Given the description of an element on the screen output the (x, y) to click on. 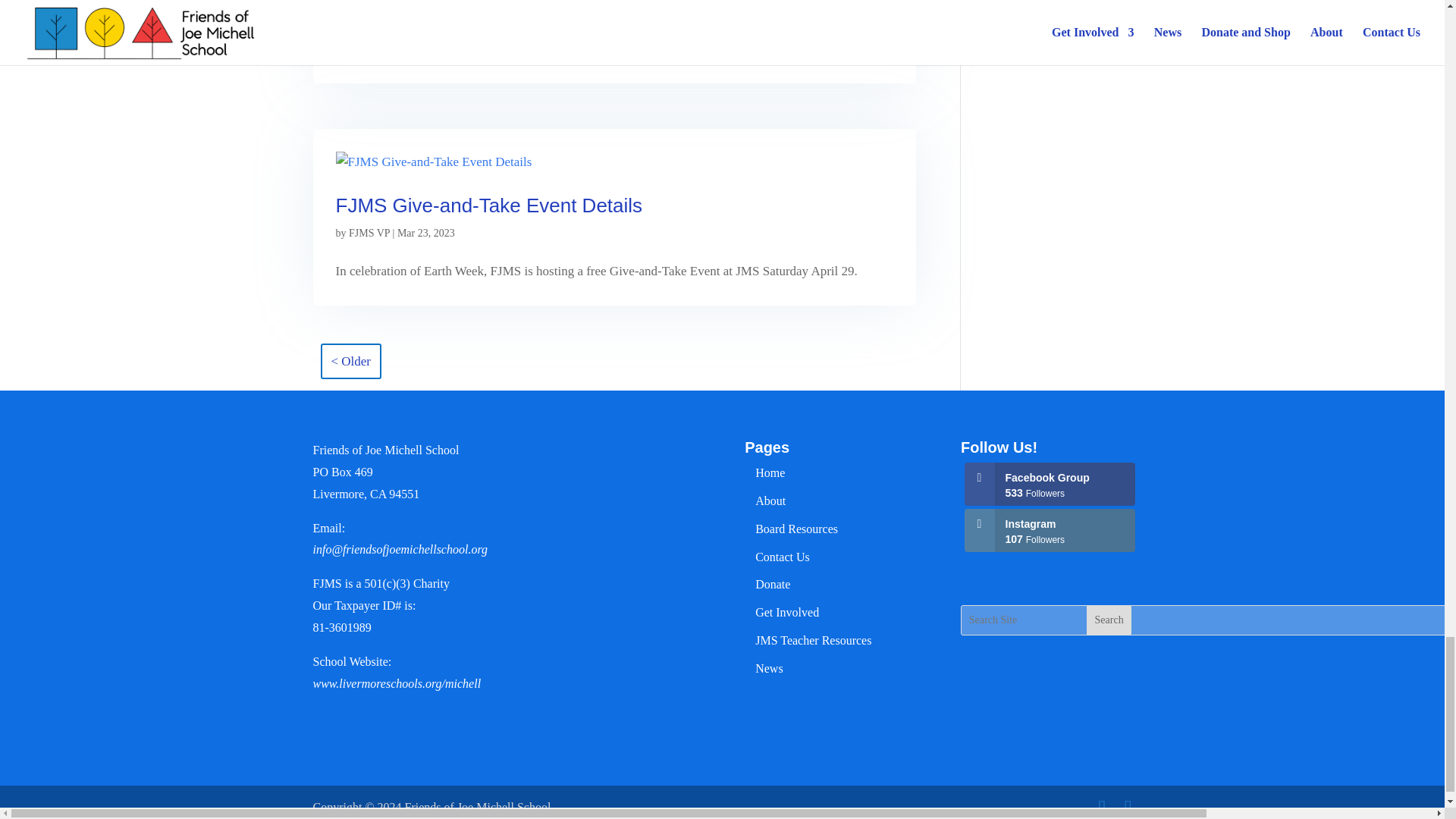
FJMS VP (369, 233)
Home (769, 472)
Posts by FJMS VP (369, 233)
FJMS Give-and-Take Event Details (488, 205)
About (770, 500)
